Given the description of an element on the screen output the (x, y) to click on. 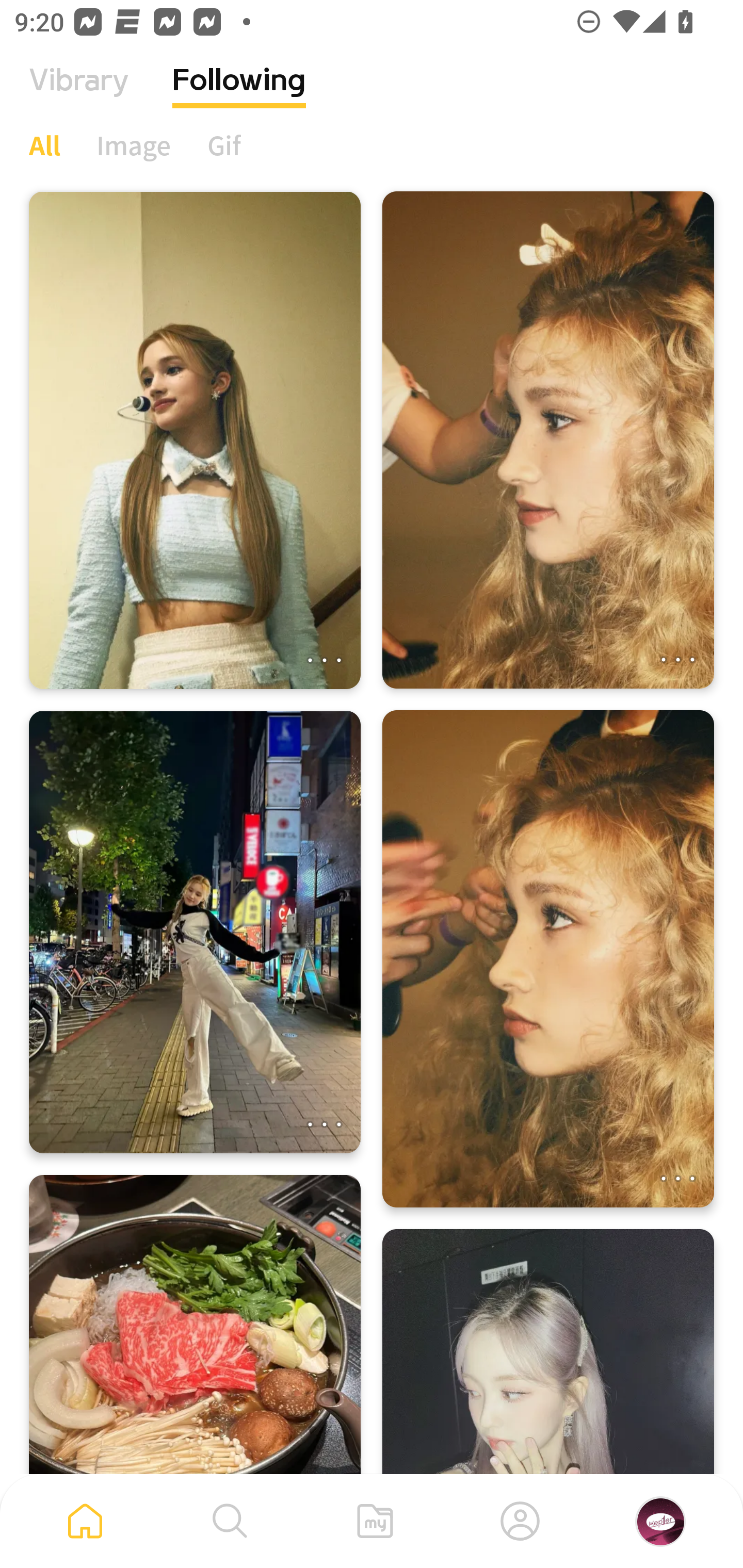
Vibrary (78, 95)
Following (239, 95)
All (44, 145)
Image (133, 145)
Gif (223, 145)
